Given the description of an element on the screen output the (x, y) to click on. 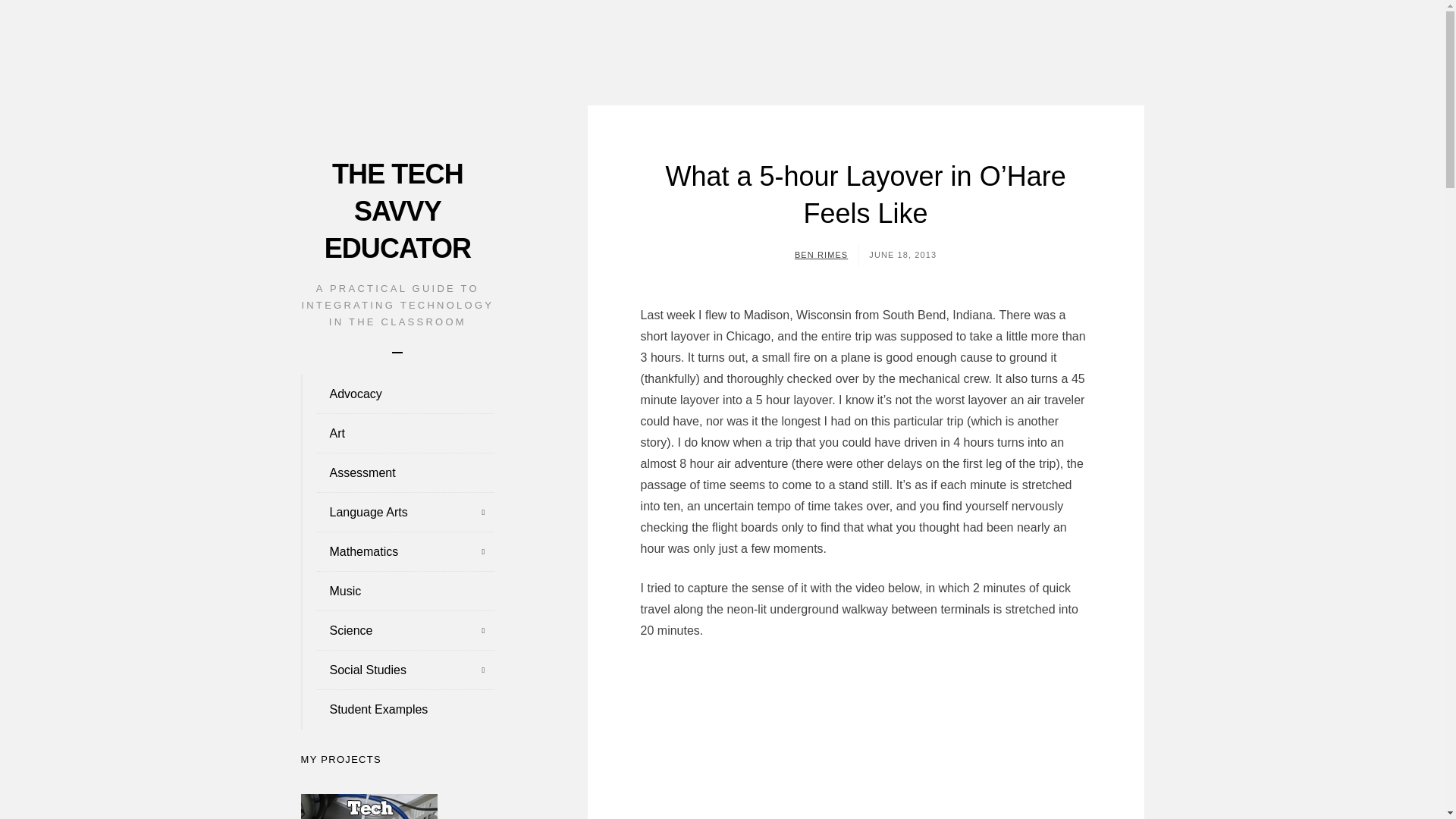
Advocacy (397, 394)
THE TECH SAVVY EDUCATOR (397, 210)
BEN RIMES (820, 254)
Assessment (397, 473)
Student Examples (397, 709)
Language Arts (397, 512)
Mathematics (397, 551)
Social Studies (397, 670)
Science (397, 630)
Music (397, 590)
